Given the description of an element on the screen output the (x, y) to click on. 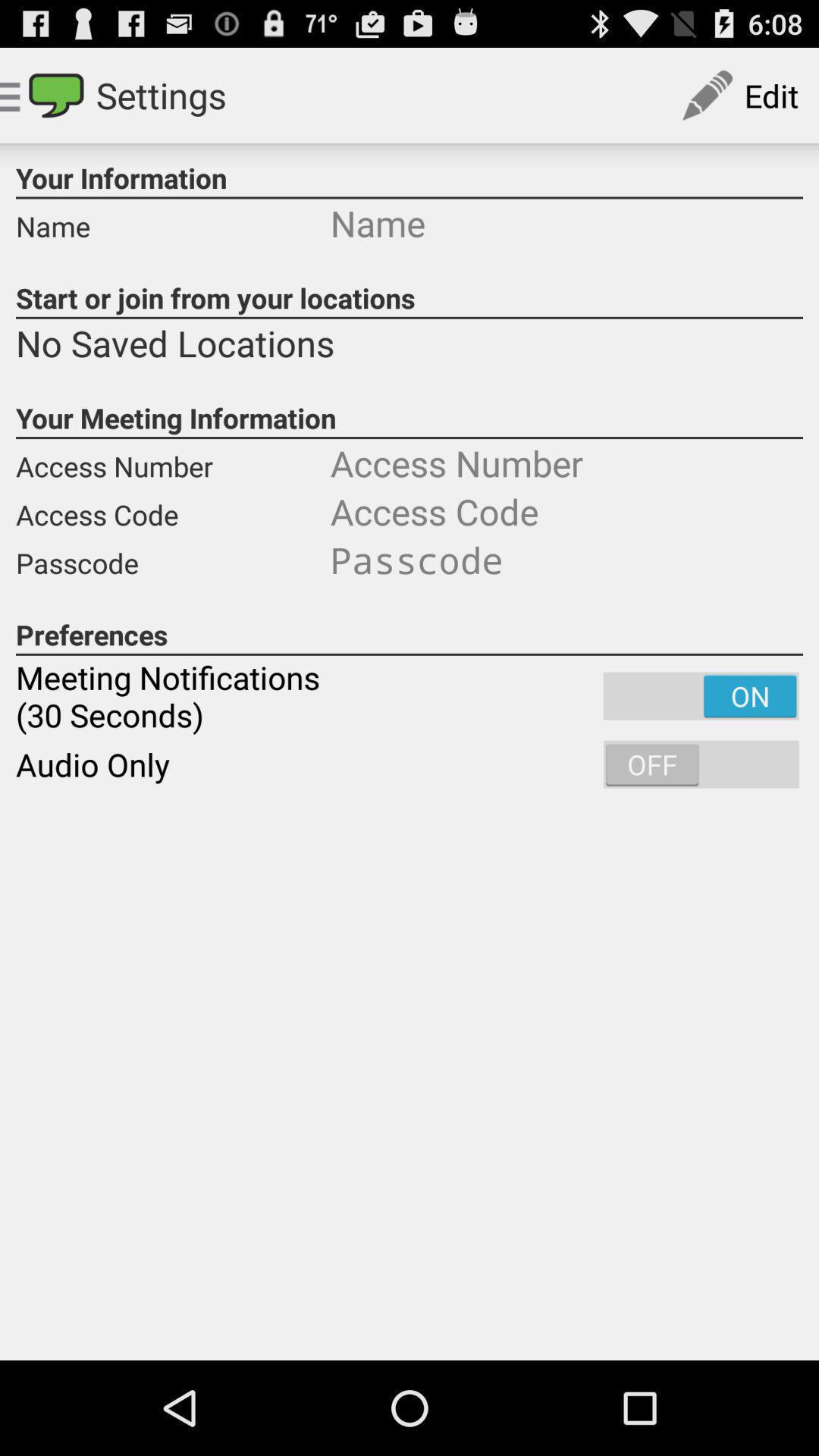
choose the icon to the right of settings item (739, 95)
